Given the description of an element on the screen output the (x, y) to click on. 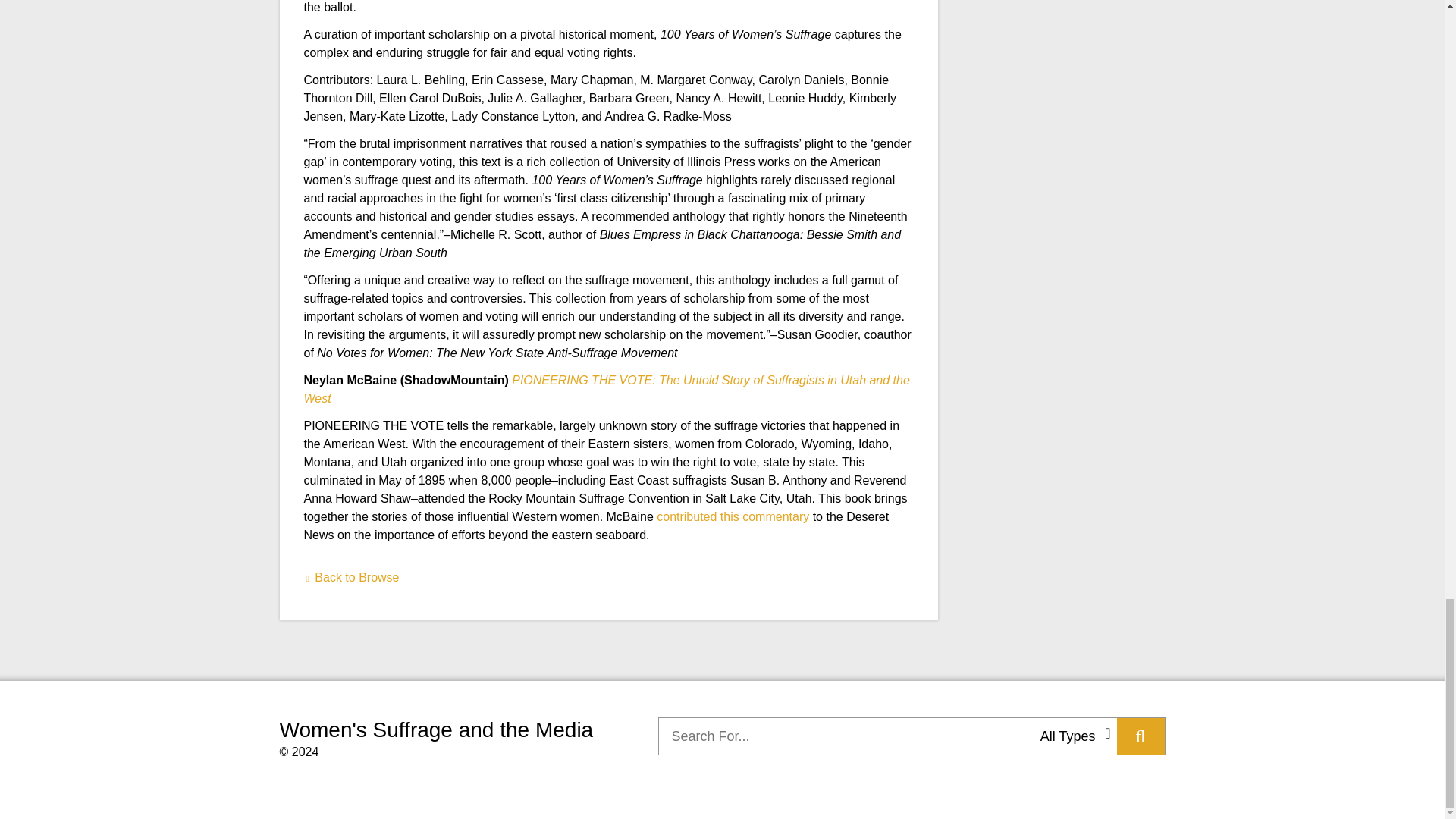
Women's Suffrage and the Media (435, 730)
contributed this commentary (732, 516)
Back to Browse (350, 576)
